Given the description of an element on the screen output the (x, y) to click on. 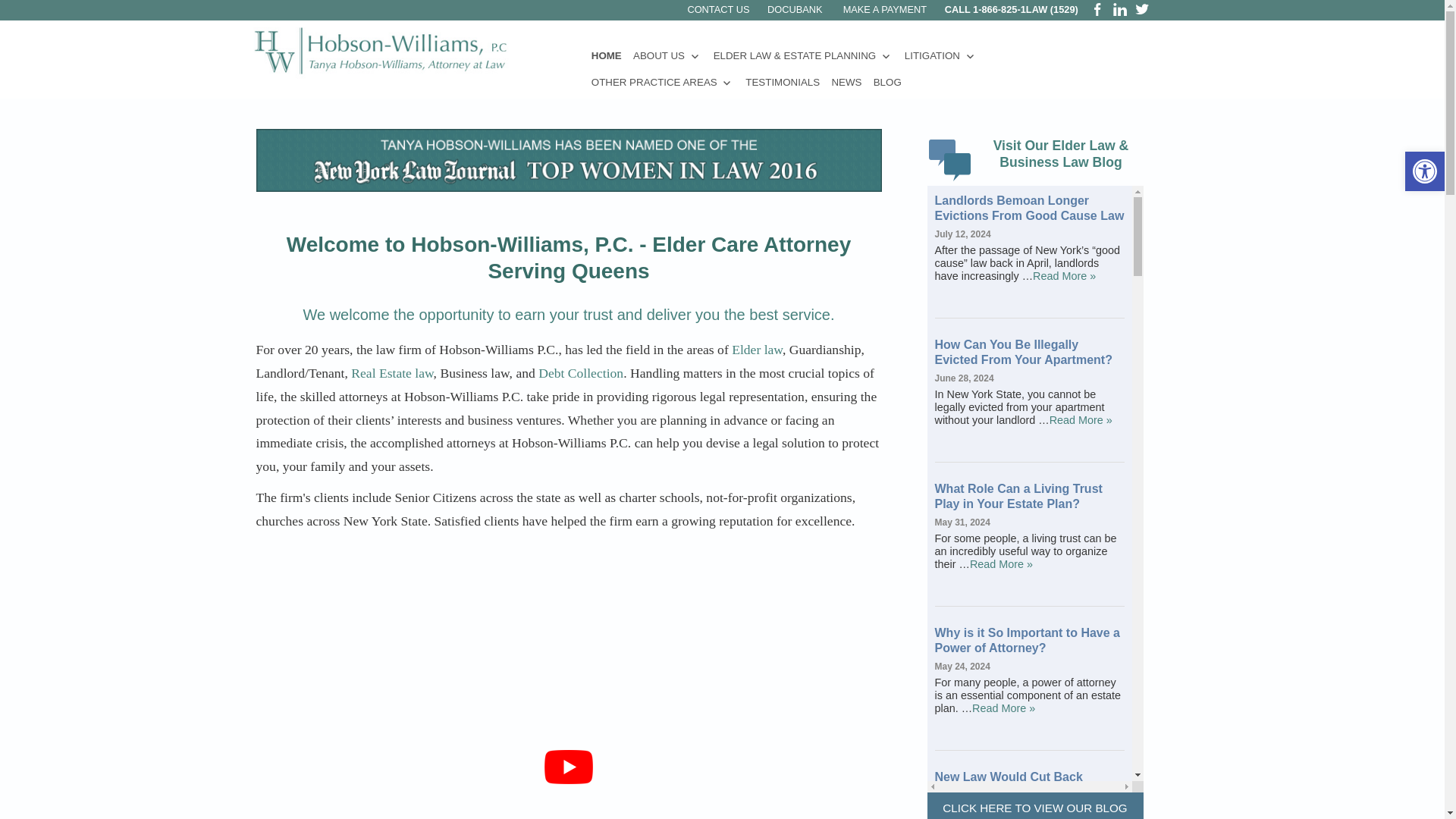
LITIGATION (940, 55)
NEWS (846, 81)
DOCUBANK (794, 9)
ABOUT US (667, 55)
HOME (606, 55)
Accessibility Tools (1424, 170)
Top Women in Law (569, 159)
BLOG (887, 81)
CONTACT US (718, 9)
TESTIMONIALS (782, 81)
OTHER PRACTICE AREAS (662, 81)
New York Elder Law Attorney (380, 51)
Elder Law (952, 159)
MAKE A PAYMENT (884, 9)
